Given the description of an element on the screen output the (x, y) to click on. 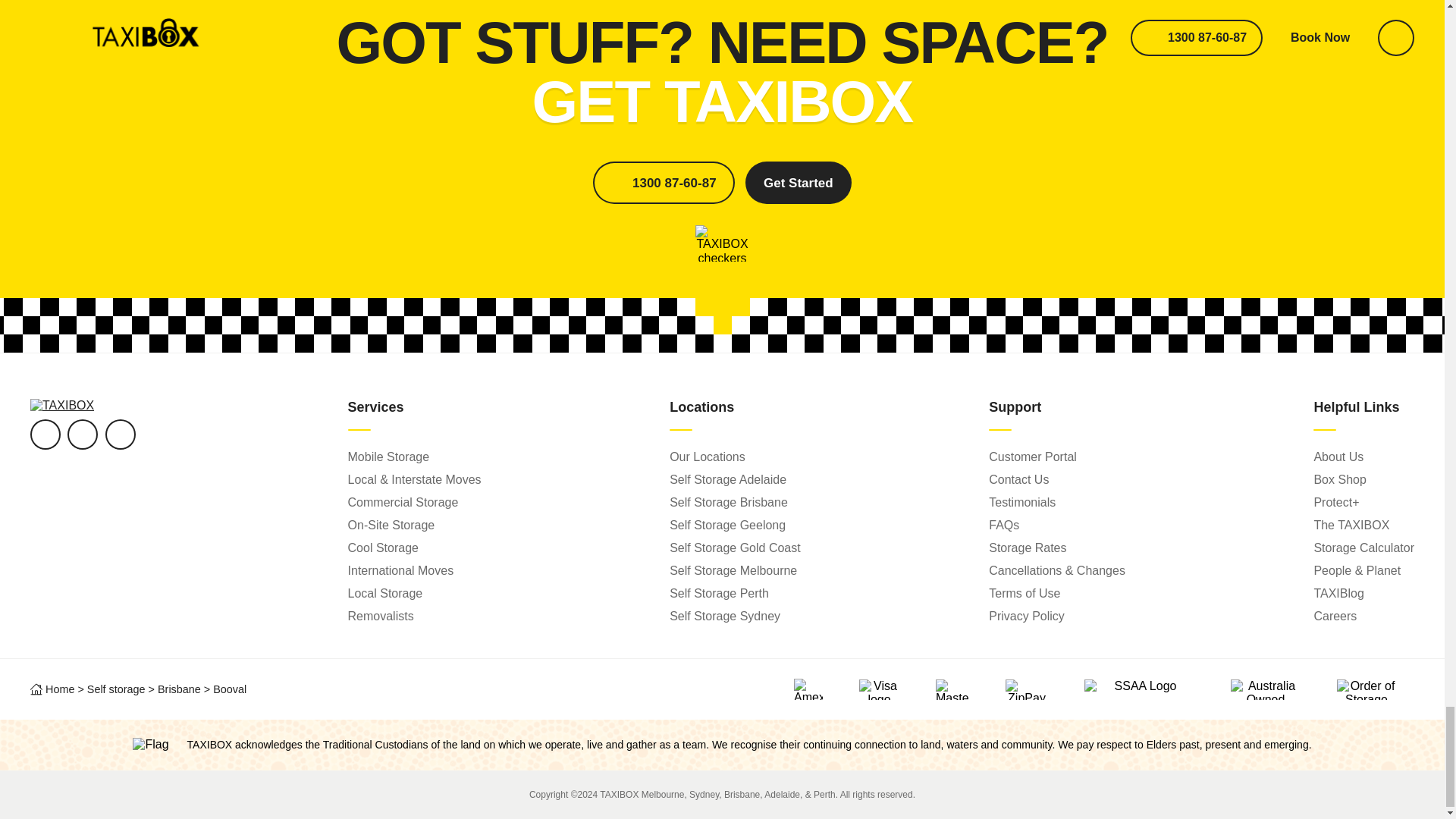
Follow us on Youtube (81, 434)
Follow us on Instagram (119, 434)
TAXIBOX Home (62, 405)
Follow us on Facebook (45, 434)
